Given the description of an element on the screen output the (x, y) to click on. 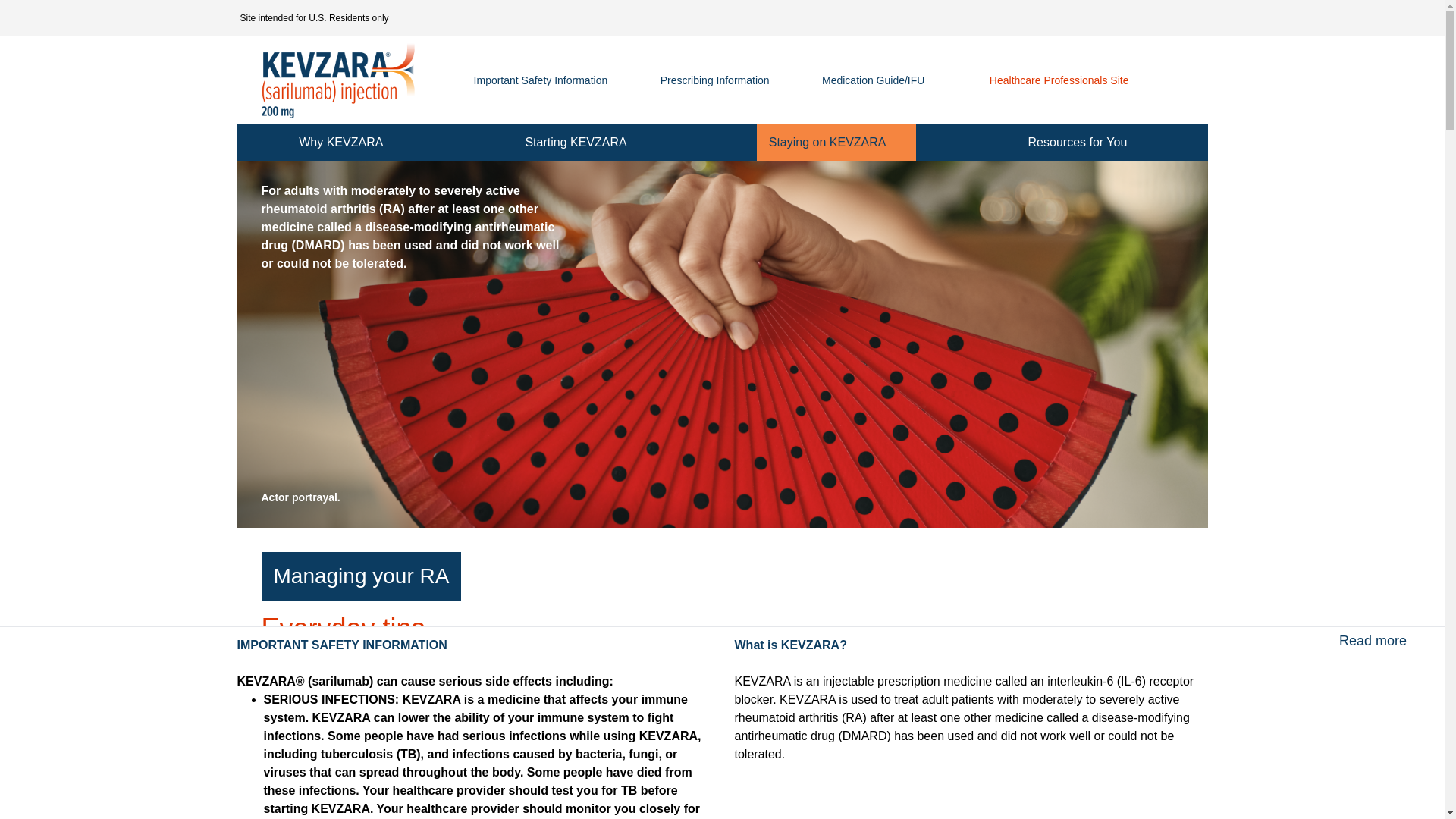
 Prescribing Information (715, 80)
Resources for You (1086, 142)
Important Safety Information (541, 80)
Staying on KEVZARA (836, 142)
Important Safety Information (541, 80)
Prescribing Information (715, 80)
Why KEVZARA (349, 142)
Search (1164, 80)
Healthcare Professionals Site (1059, 80)
Starting KEVZARA (584, 142)
